Given the description of an element on the screen output the (x, y) to click on. 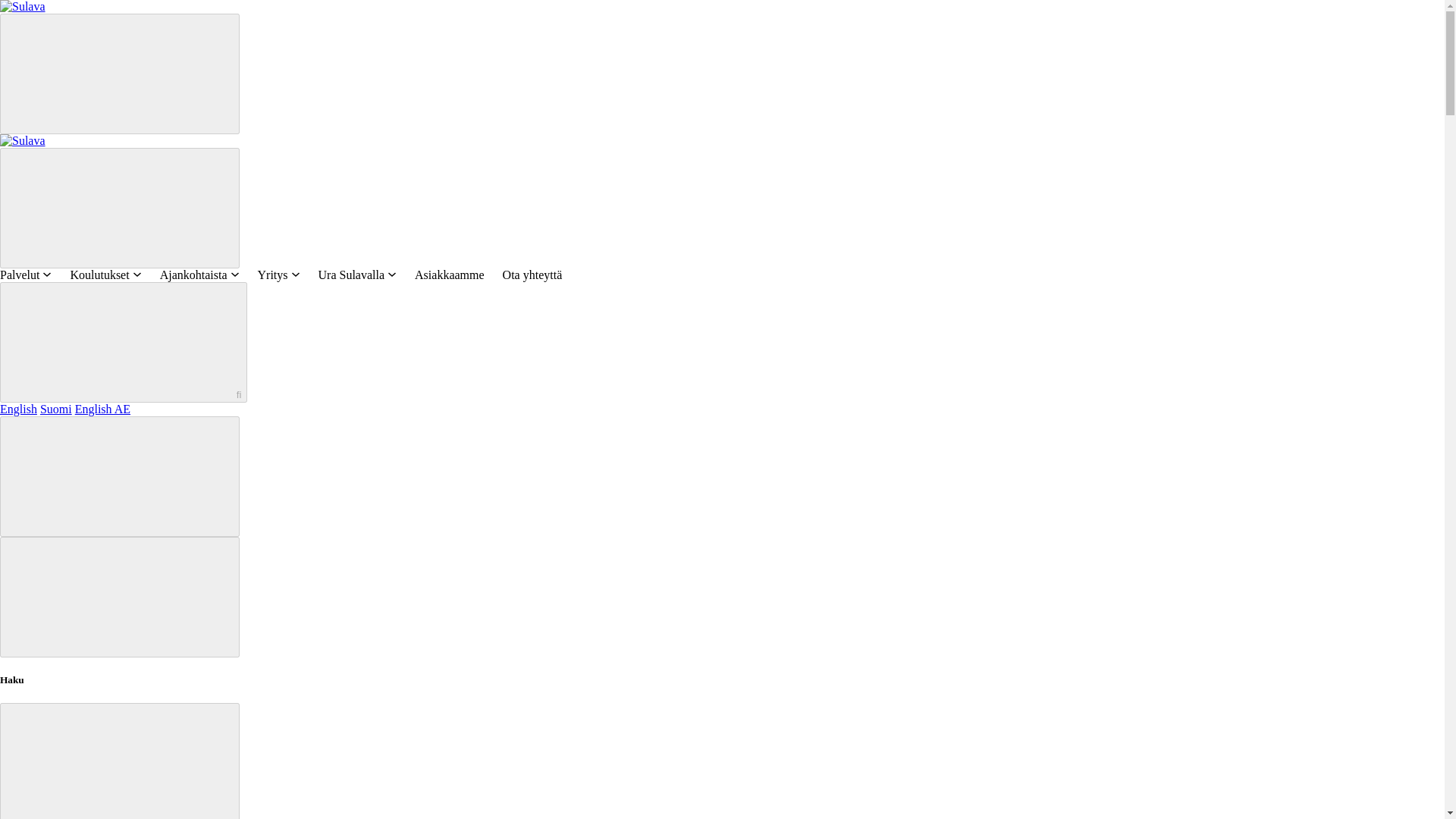
English (18, 408)
English AE (103, 408)
Suomi (55, 408)
Palvelut (25, 274)
